Given the description of an element on the screen output the (x, y) to click on. 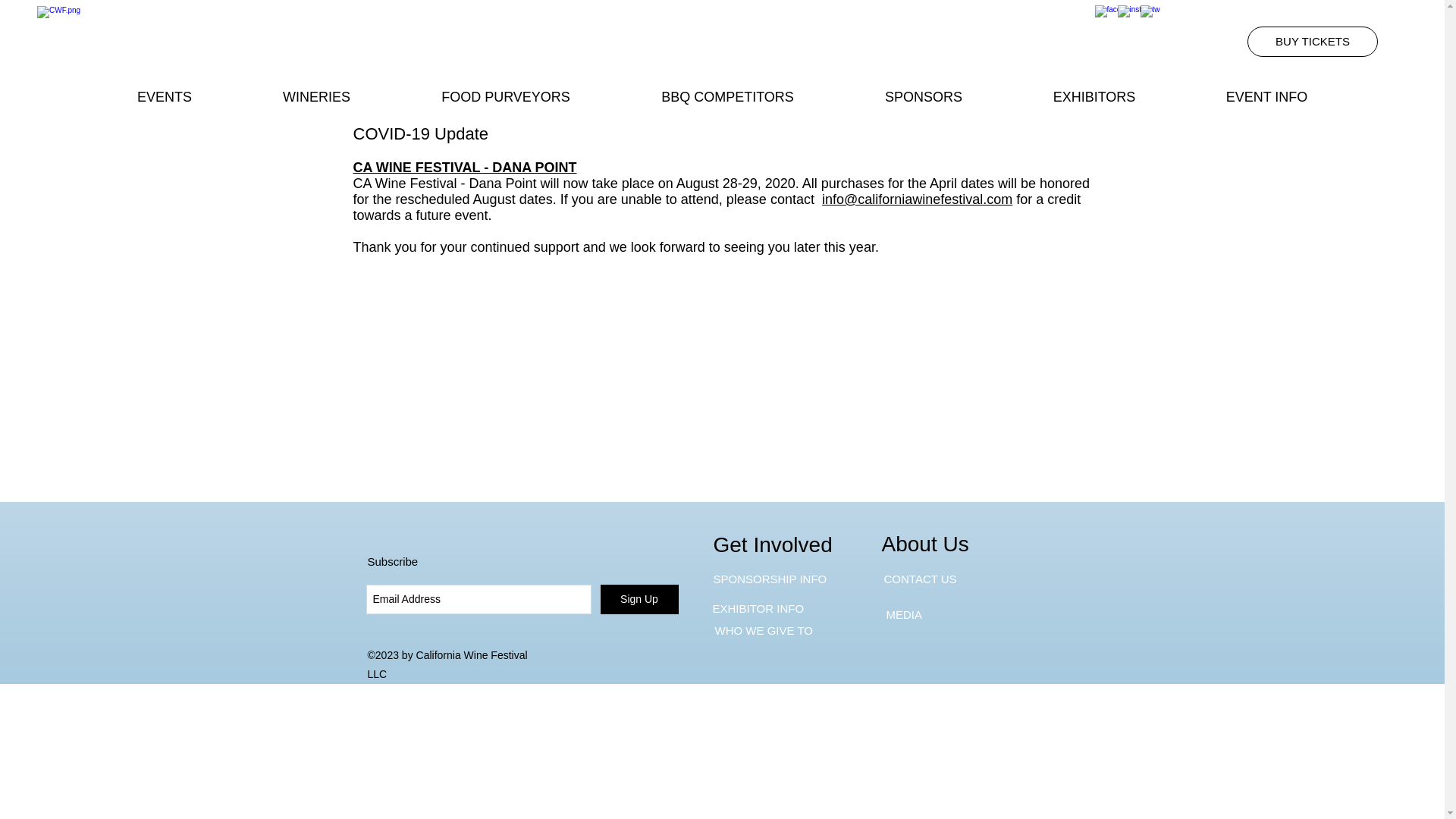
FOOD PURVEYORS (505, 96)
CONTACT US (919, 579)
EVENTS (164, 96)
SPONSORSHIP INFO (770, 579)
WHO WE GIVE TO (768, 630)
Sign Up (638, 599)
EVENT INFO (1266, 96)
EXHIBITORS (1093, 96)
BUY TICKETS (1312, 41)
BBQ COMPETITORS (727, 96)
